Given the description of an element on the screen output the (x, y) to click on. 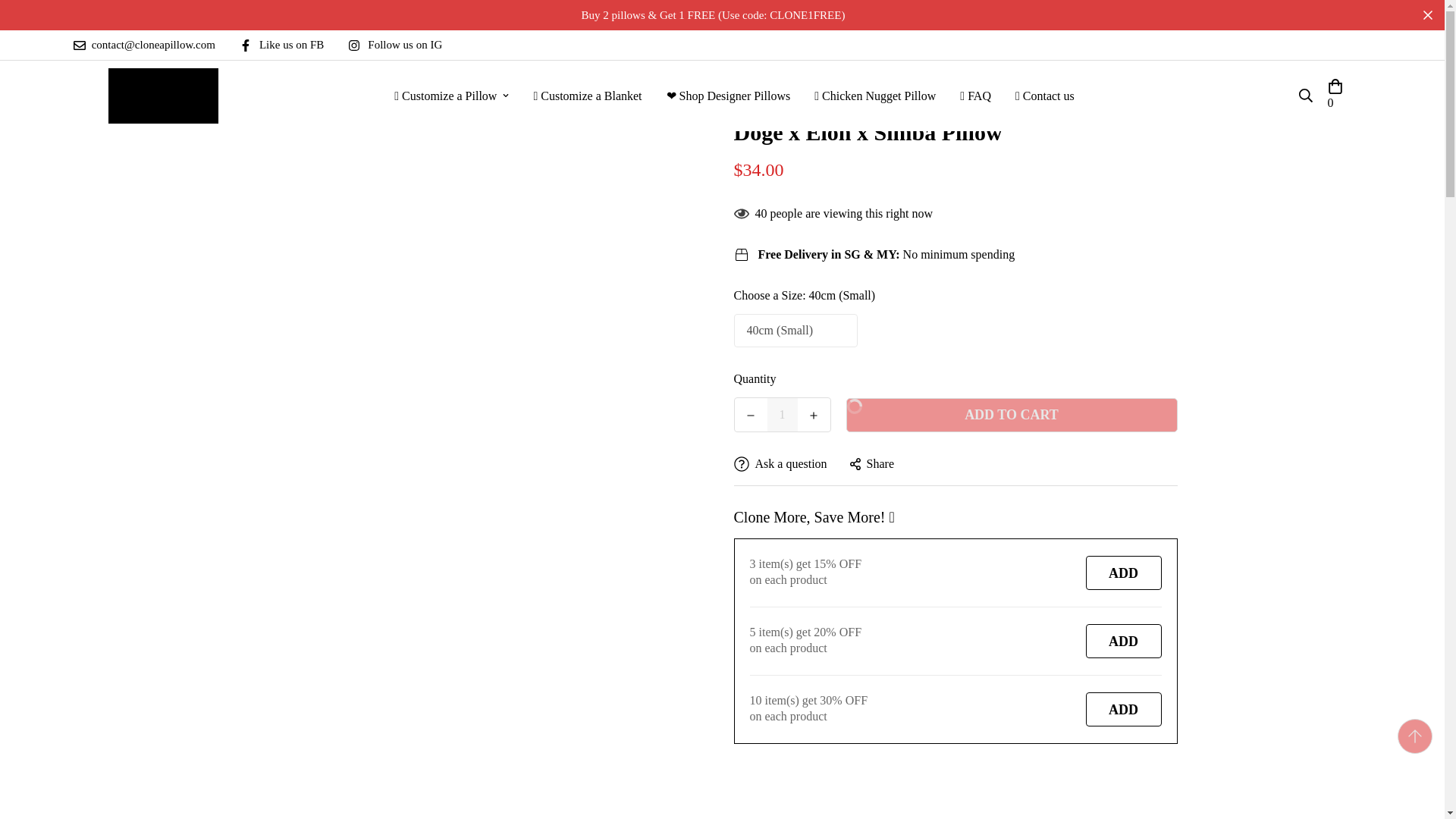
Clone A Pillow (161, 95)
Like us on FB (287, 45)
Back to the home page (589, 81)
Follow us on IG (401, 45)
1 (782, 414)
